Given the description of an element on the screen output the (x, y) to click on. 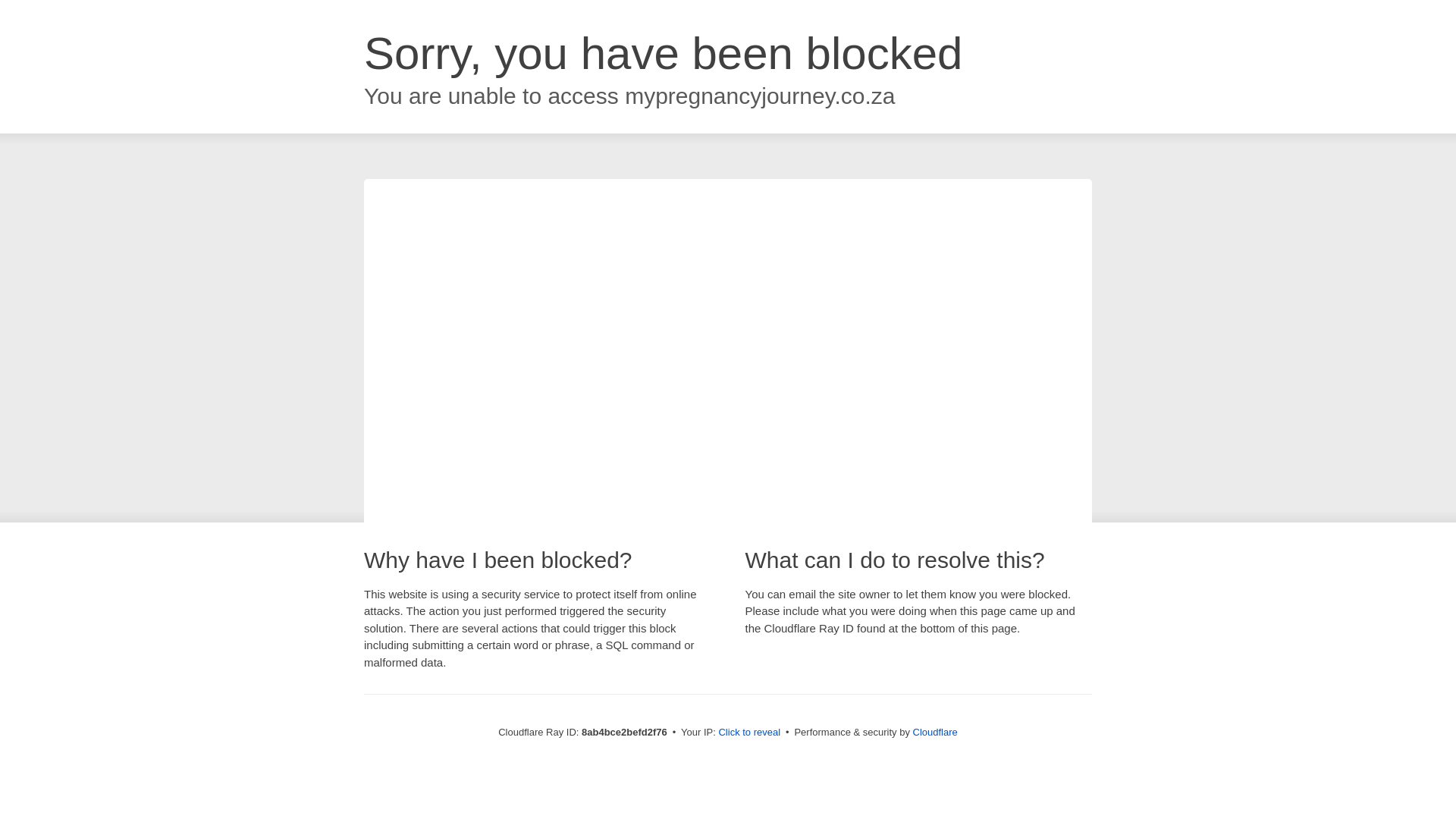
Click to reveal (748, 732)
Cloudflare (935, 731)
